Given the description of an element on the screen output the (x, y) to click on. 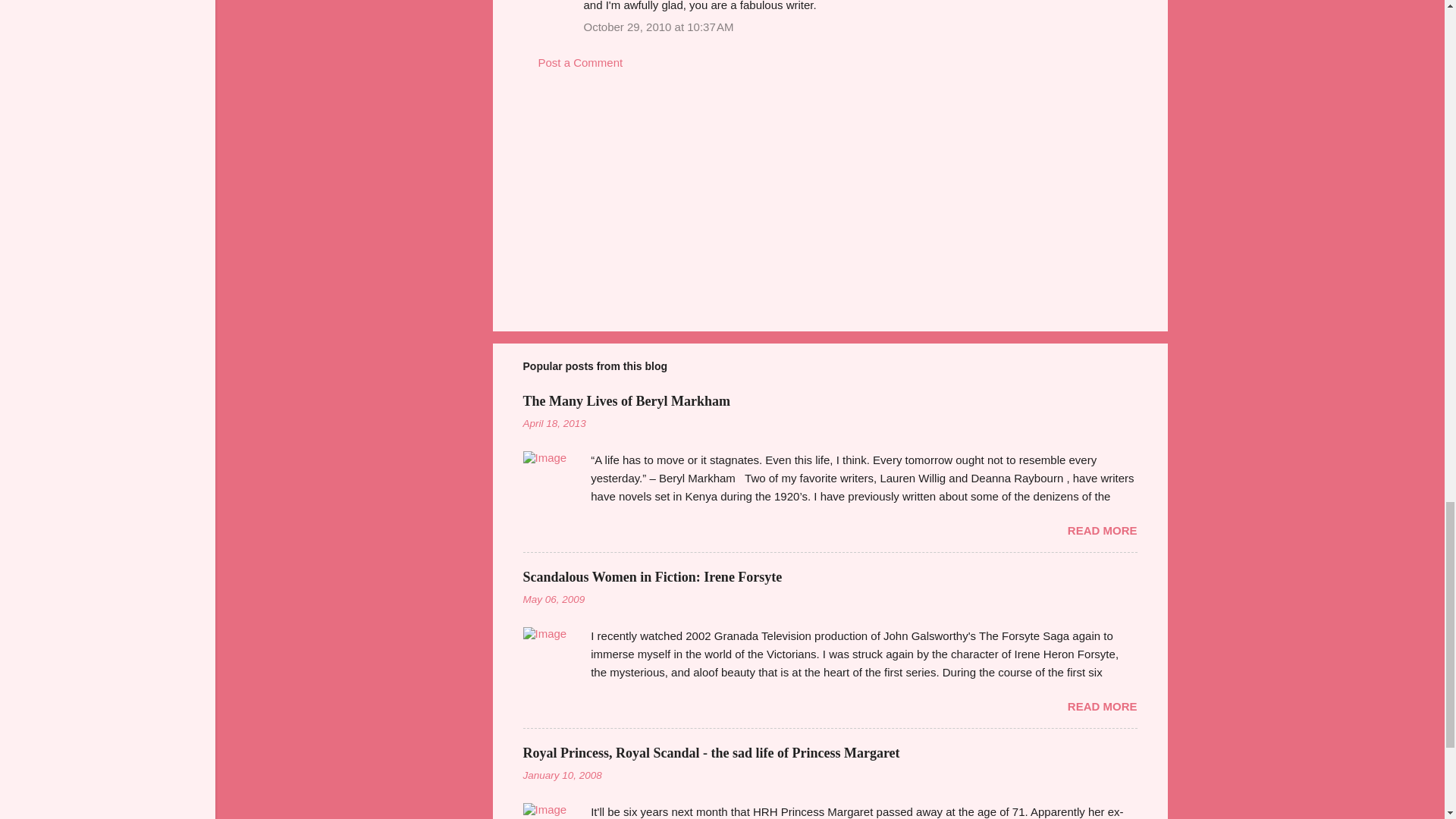
READ MORE (1102, 706)
comment permalink (658, 26)
Post a Comment (580, 62)
April 18, 2013 (554, 423)
May 06, 2009 (553, 599)
The Many Lives of Beryl Markham (626, 400)
READ MORE (1102, 530)
January 10, 2008 (562, 775)
Scandalous Women in Fiction: Irene Forsyte (652, 576)
